Given the description of an element on the screen output the (x, y) to click on. 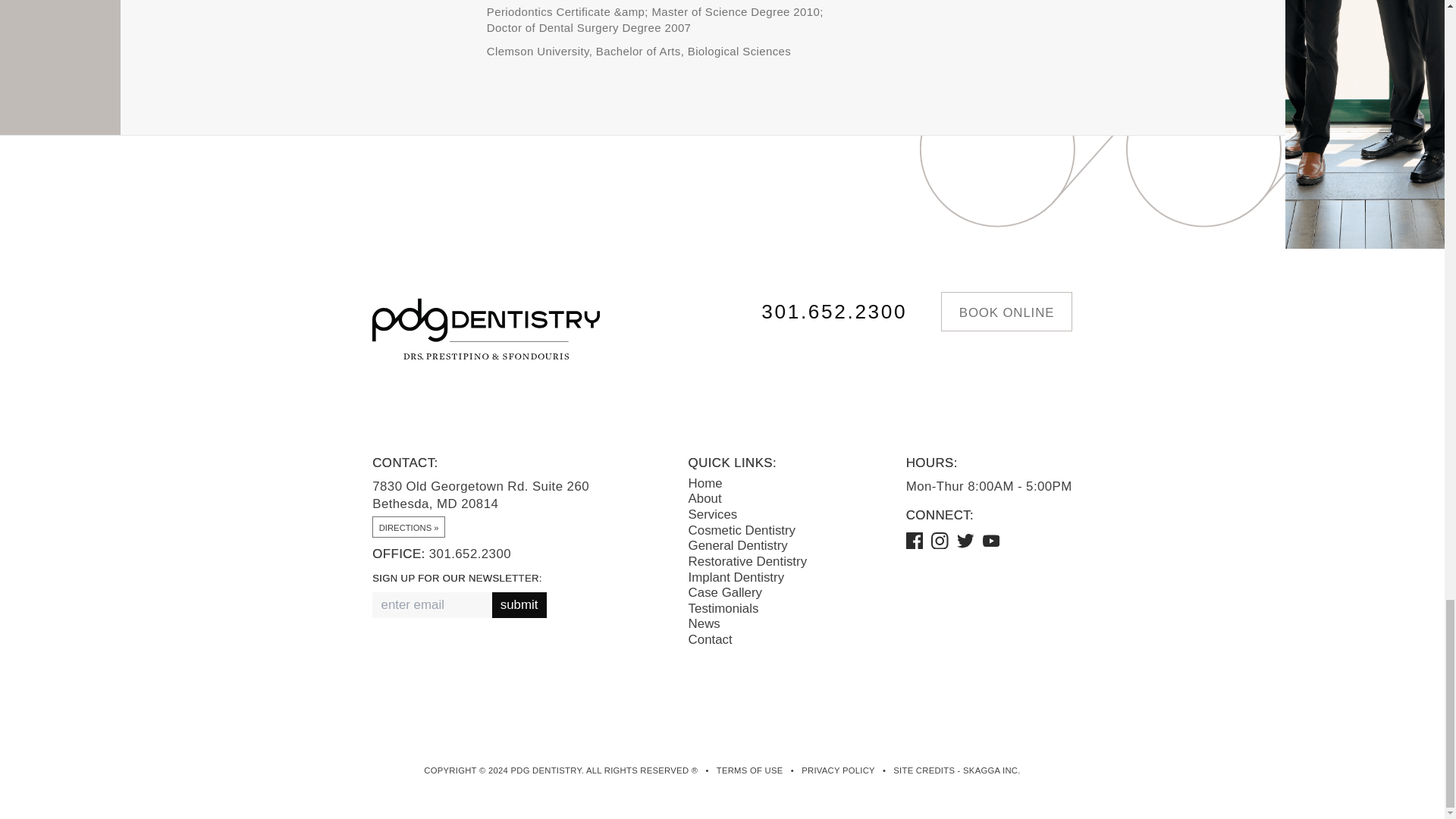
Cosmetic Dentistry (741, 530)
BOOK ONLINE (1005, 311)
Contact (710, 639)
Twitter icon (965, 540)
YouTube icon (991, 540)
About (705, 498)
Restorative Dentistry (747, 561)
submit (517, 605)
Services (713, 513)
Case Gallery (724, 592)
Twitter icon (969, 540)
Implant Dentistry (736, 577)
General Dentistry (737, 545)
News (704, 623)
Testimonials (723, 608)
